Given the description of an element on the screen output the (x, y) to click on. 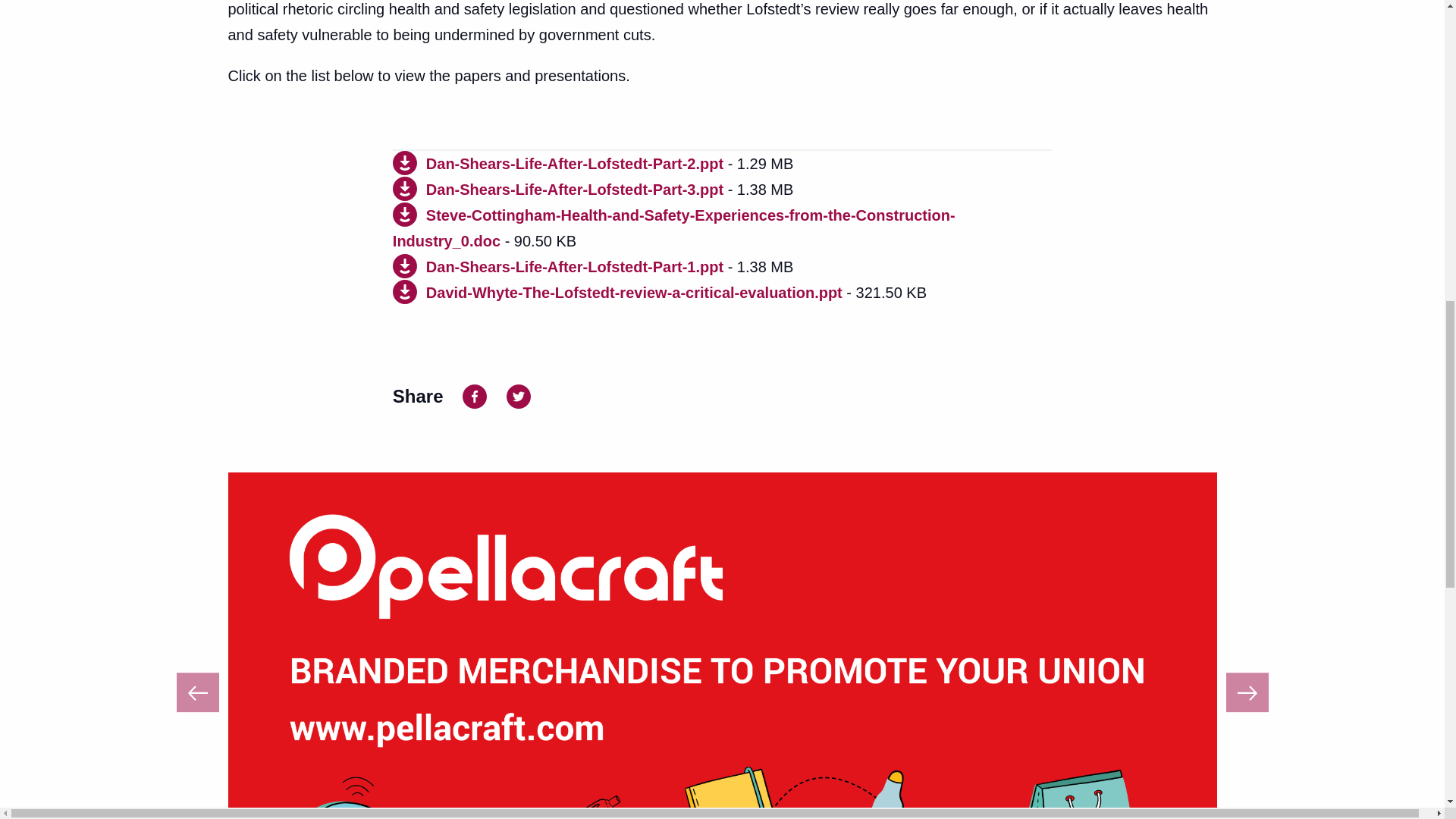
Share to Twitter (518, 394)
Share to Facebook (474, 394)
